Given the description of an element on the screen output the (x, y) to click on. 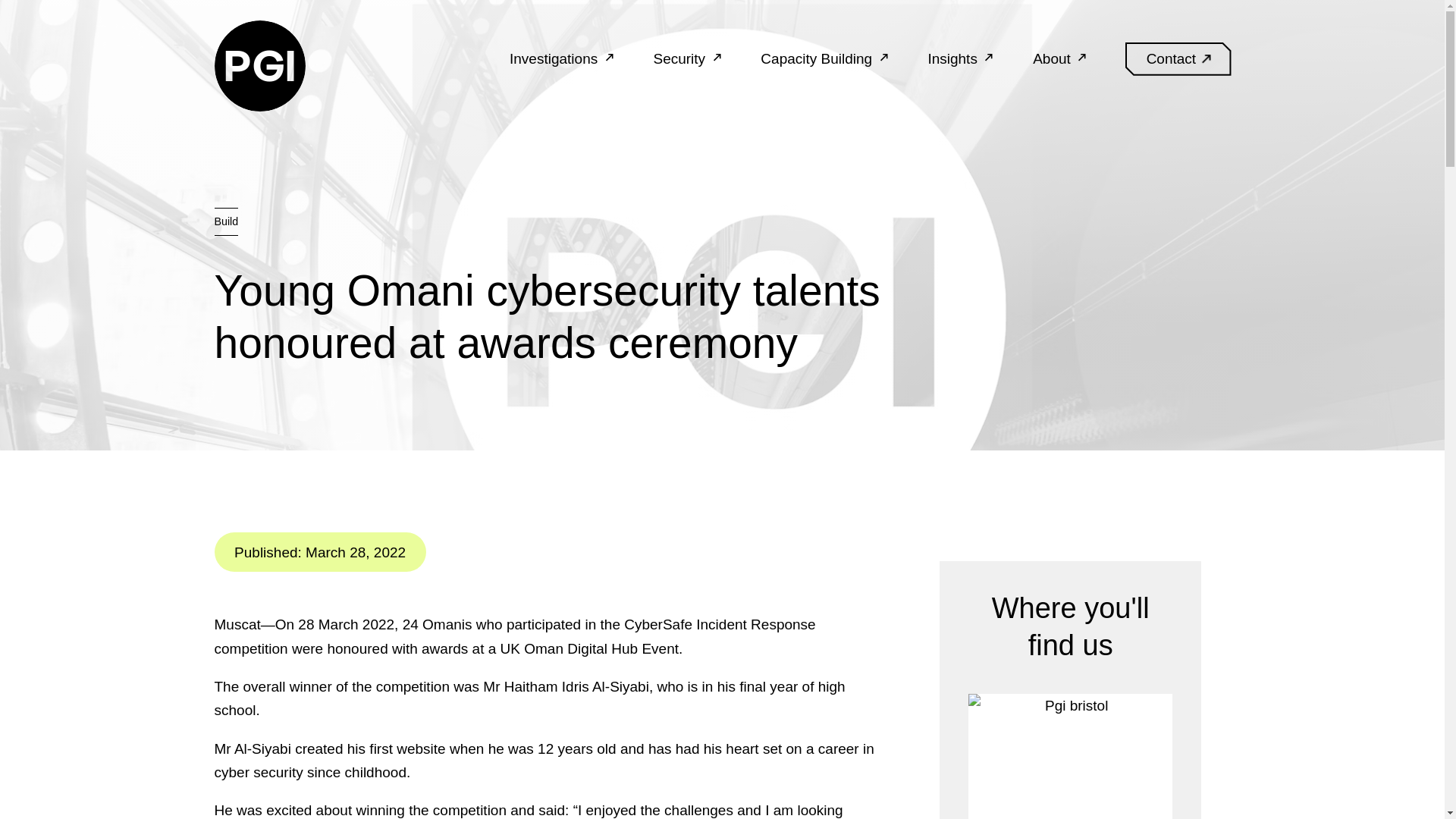
About (1059, 59)
Contact (259, 65)
Capacity Building (1177, 59)
Insights (824, 59)
Security (960, 59)
Investigations (259, 65)
